Given the description of an element on the screen output the (x, y) to click on. 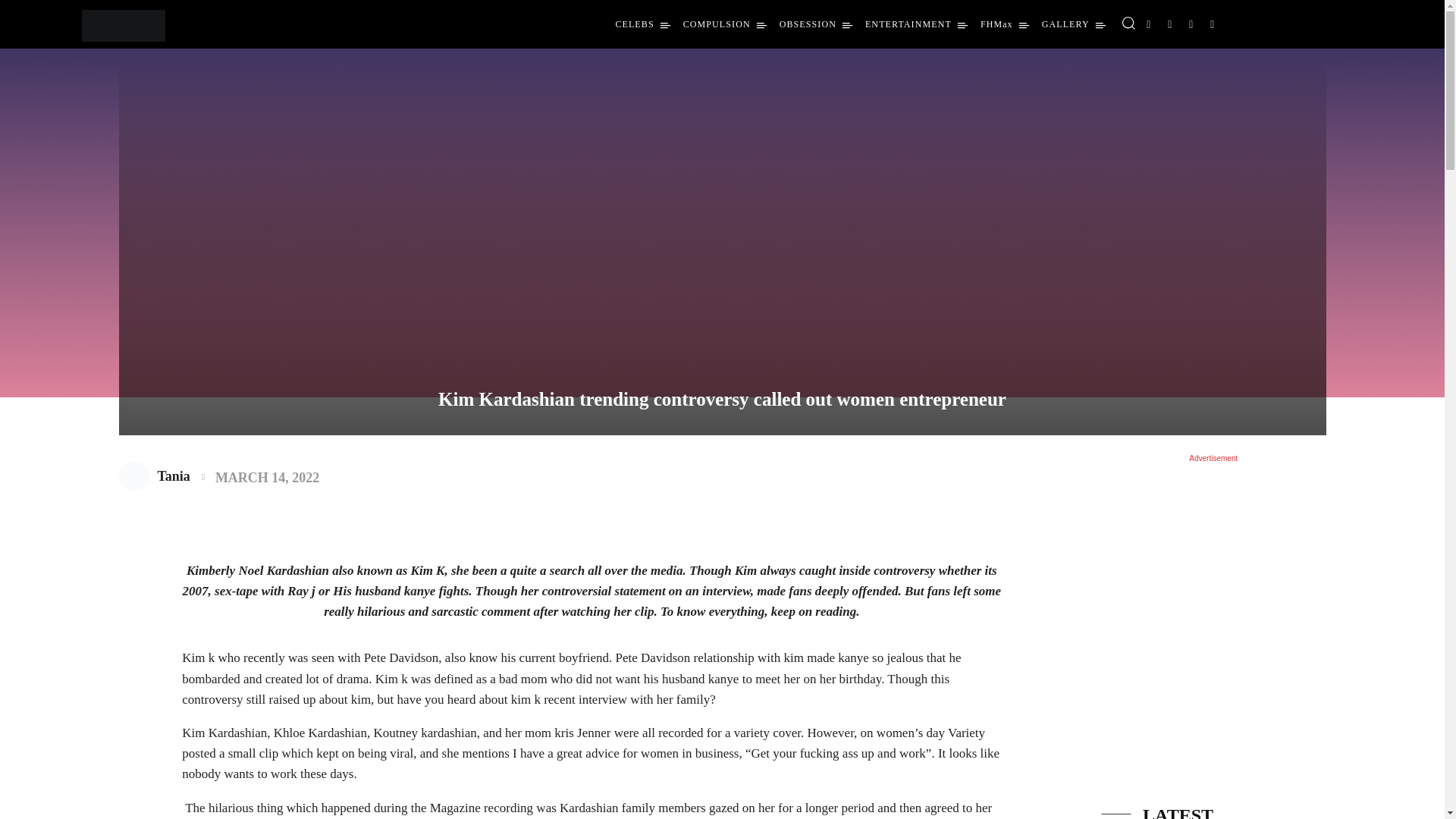
Instagram (1169, 24)
CELEBS (642, 23)
Youtube (1212, 24)
Facebook (1148, 24)
COMPULSION (725, 23)
Twitter (1191, 24)
Tania (135, 476)
